Given the description of an element on the screen output the (x, y) to click on. 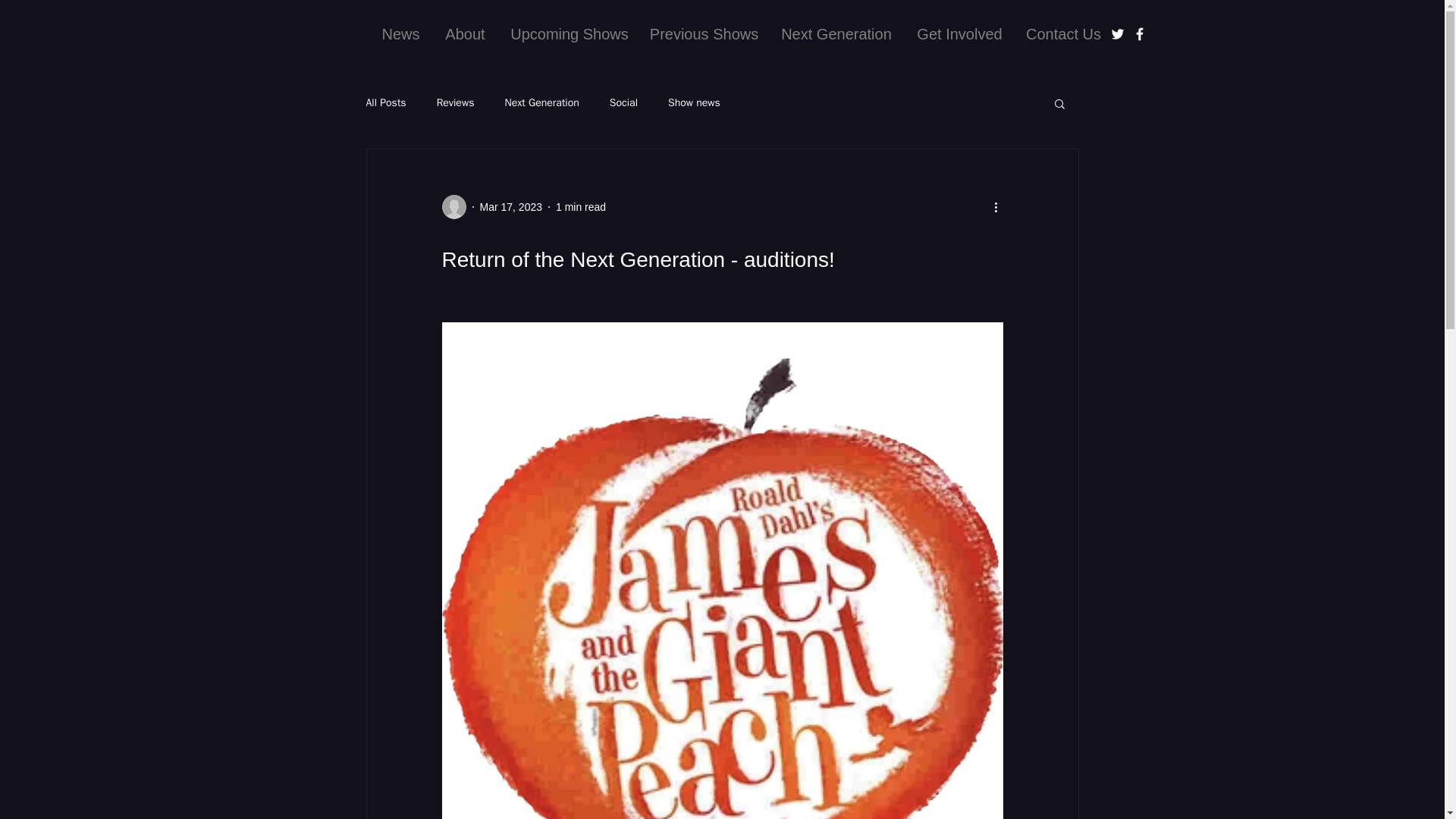
Mar 17, 2023 (510, 205)
Upcoming Shows (569, 33)
All Posts (385, 102)
About (465, 33)
Previous Shows (703, 33)
Reviews (455, 102)
Next Generation (835, 33)
Contact Us (1063, 33)
Social (623, 102)
News (400, 33)
